Given the description of an element on the screen output the (x, y) to click on. 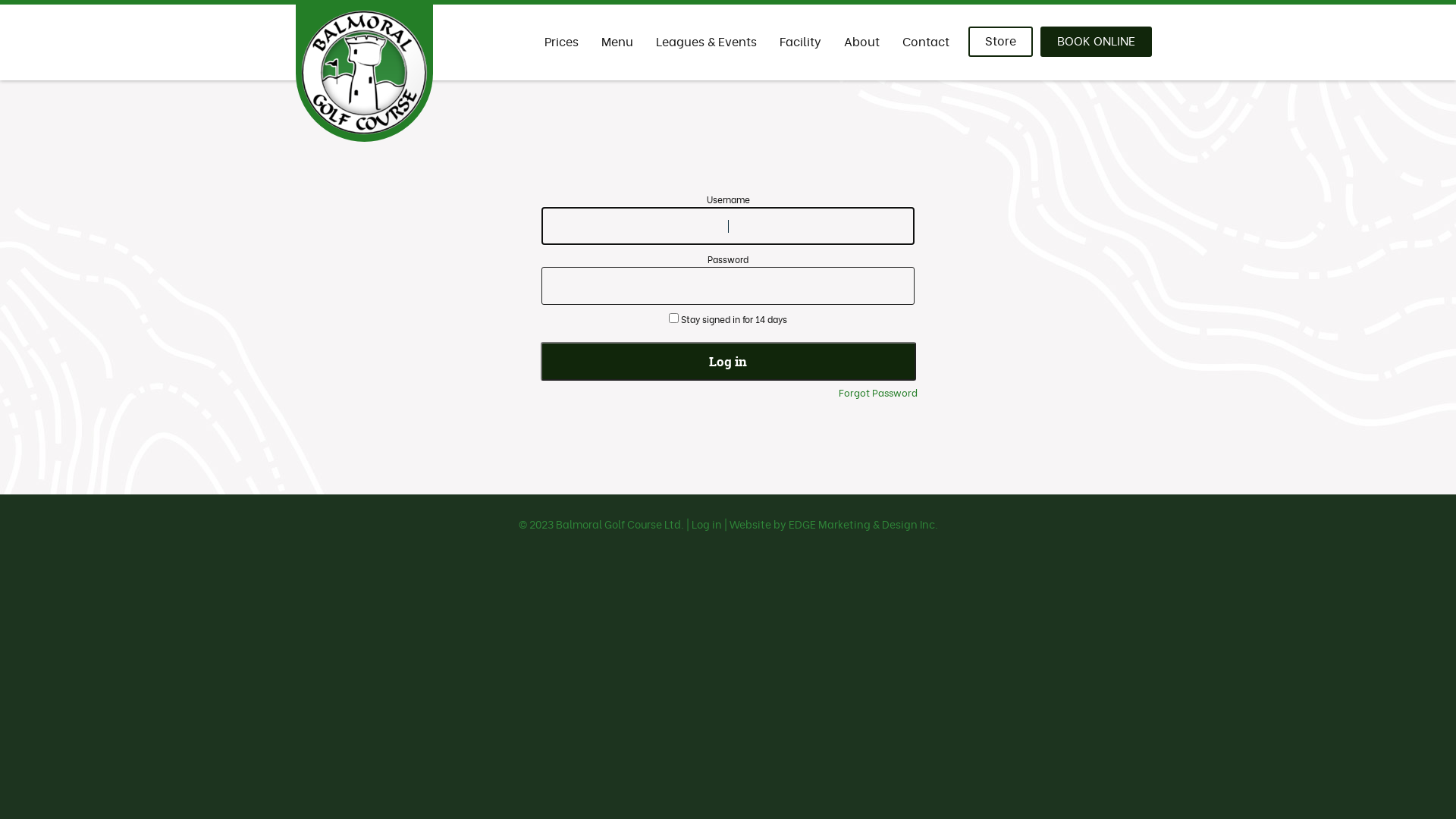
BOOK ONLINE Element type: text (1095, 41)
Home Element type: text (710, 60)
About Element type: text (861, 42)
Log in Element type: text (706, 523)
Contact Element type: text (925, 42)
Menu Element type: text (616, 42)
Leagues & Events Element type: text (706, 42)
Prices Element type: text (561, 42)
Balmoral Golf Course Ltd. Element type: text (619, 523)
Facility Element type: text (800, 42)
Store Element type: text (1000, 41)
Forgot Password Element type: text (877, 391)
Log in Element type: text (727, 361)
